Given the description of an element on the screen output the (x, y) to click on. 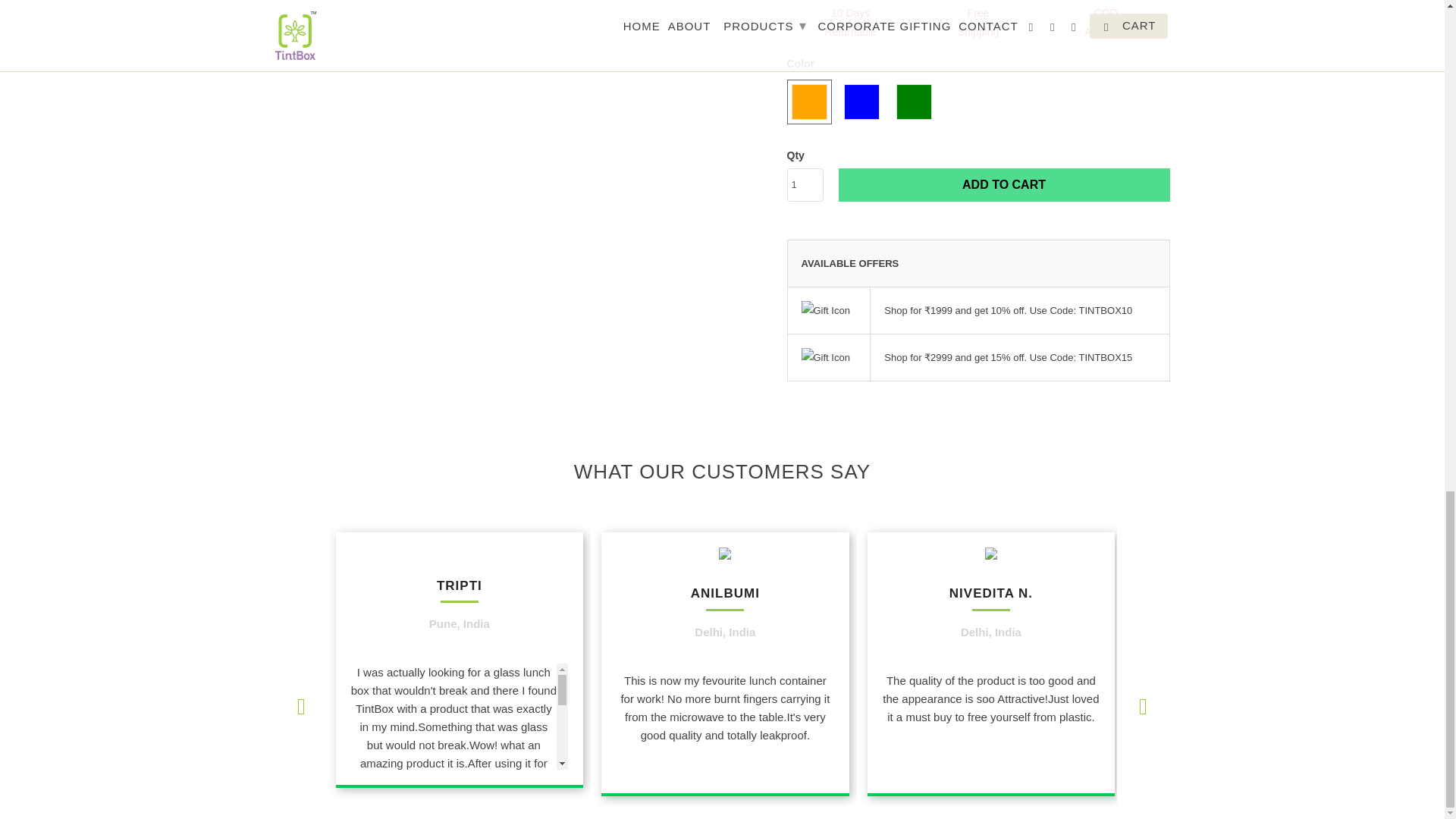
1 (805, 184)
